Given the description of an element on the screen output the (x, y) to click on. 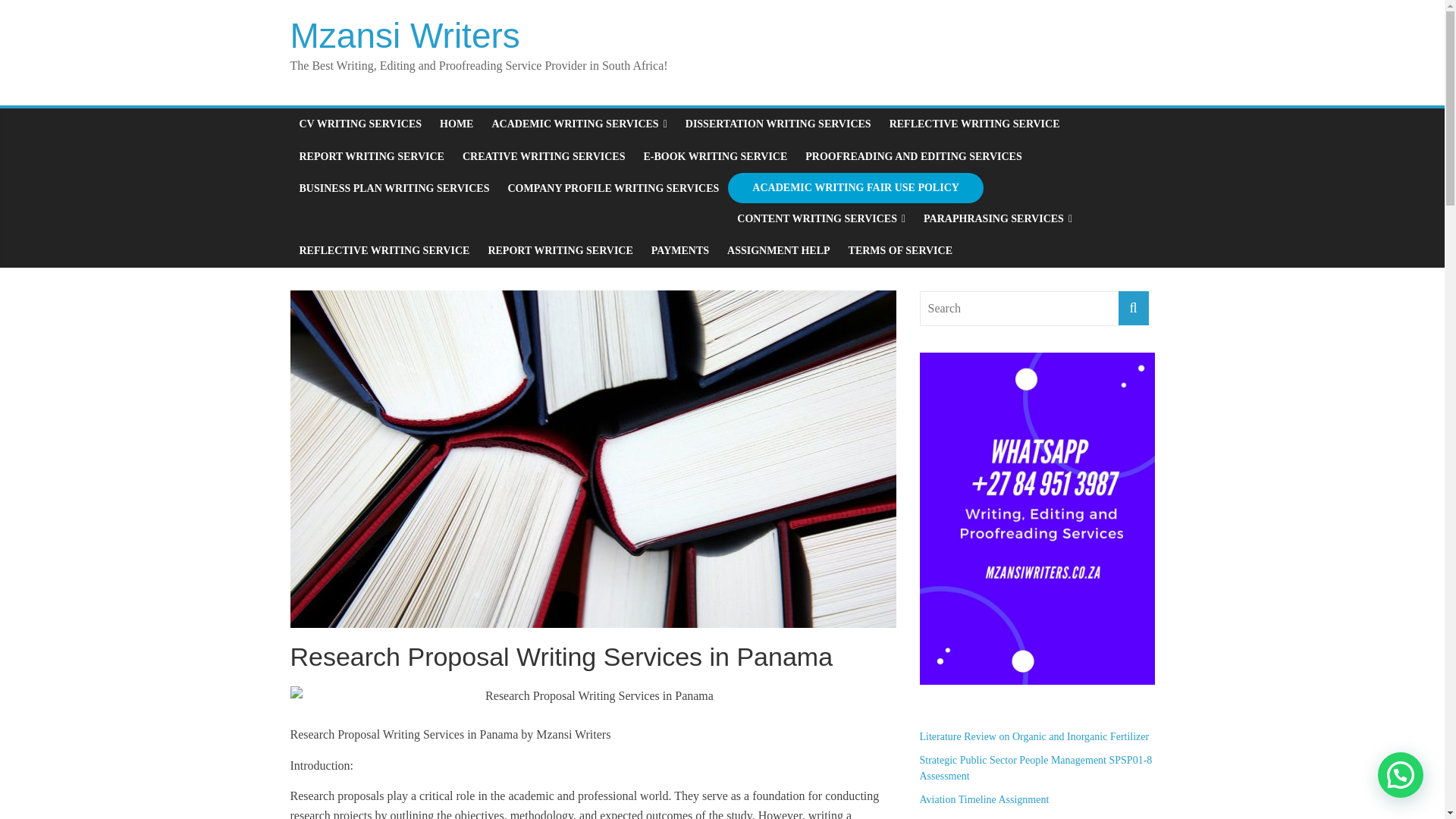
TERMS OF SERVICE (900, 250)
Mzansi Writers (404, 35)
CONTENT WRITING SERVICES (821, 219)
REFLECTIVE WRITING SERVICE (384, 250)
Mzansi Writers (404, 35)
Literature Review on Organic and Inorganic Fertilizer (1033, 736)
REPORT WRITING SERVICE (560, 250)
ACADEMIC WRITING SERVICES (578, 124)
PROOFREADING AND EDITING SERVICES (913, 156)
ASSIGNMENT HELP (778, 250)
BUSINESS PLAN WRITING SERVICES (393, 188)
REFLECTIVE WRITING SERVICE (974, 124)
Aviation Timeline Assignment (983, 799)
E-BOOK WRITING SERVICE (714, 156)
